Given the description of an element on the screen output the (x, y) to click on. 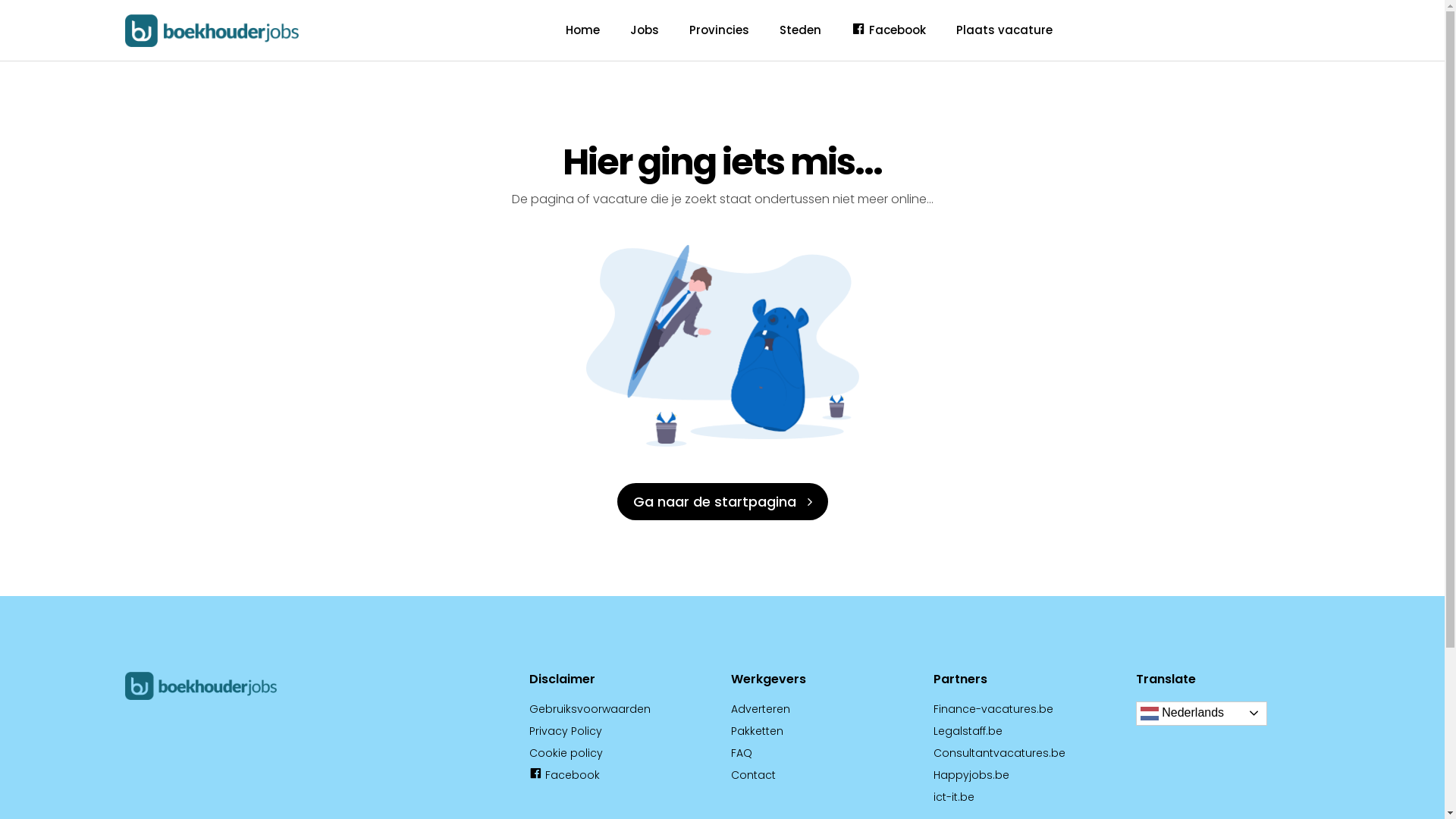
Nederlands Element type: text (1201, 713)
Jobs Element type: text (644, 29)
Legalstaff.be Element type: text (967, 730)
Privacy Policy Element type: text (565, 730)
Ga naar de startpagina Element type: text (722, 501)
ict-it.be Element type: text (953, 796)
Facebook Element type: text (888, 29)
Gebruiksvoorwaarden Element type: text (589, 708)
Contact Element type: text (753, 774)
Finance-vacatures.be Element type: text (993, 708)
Facebook Element type: text (564, 774)
Plaats vacature Element type: text (1004, 29)
Home Element type: text (582, 29)
Provincies Element type: text (719, 29)
Consultantvacatures.be Element type: text (999, 752)
FAQ Element type: text (741, 752)
Cookie policy Element type: text (565, 752)
Adverteren Element type: text (760, 708)
Happyjobs.be Element type: text (971, 774)
Pakketten Element type: text (757, 730)
Steden Element type: text (800, 29)
